Given the description of an element on the screen output the (x, y) to click on. 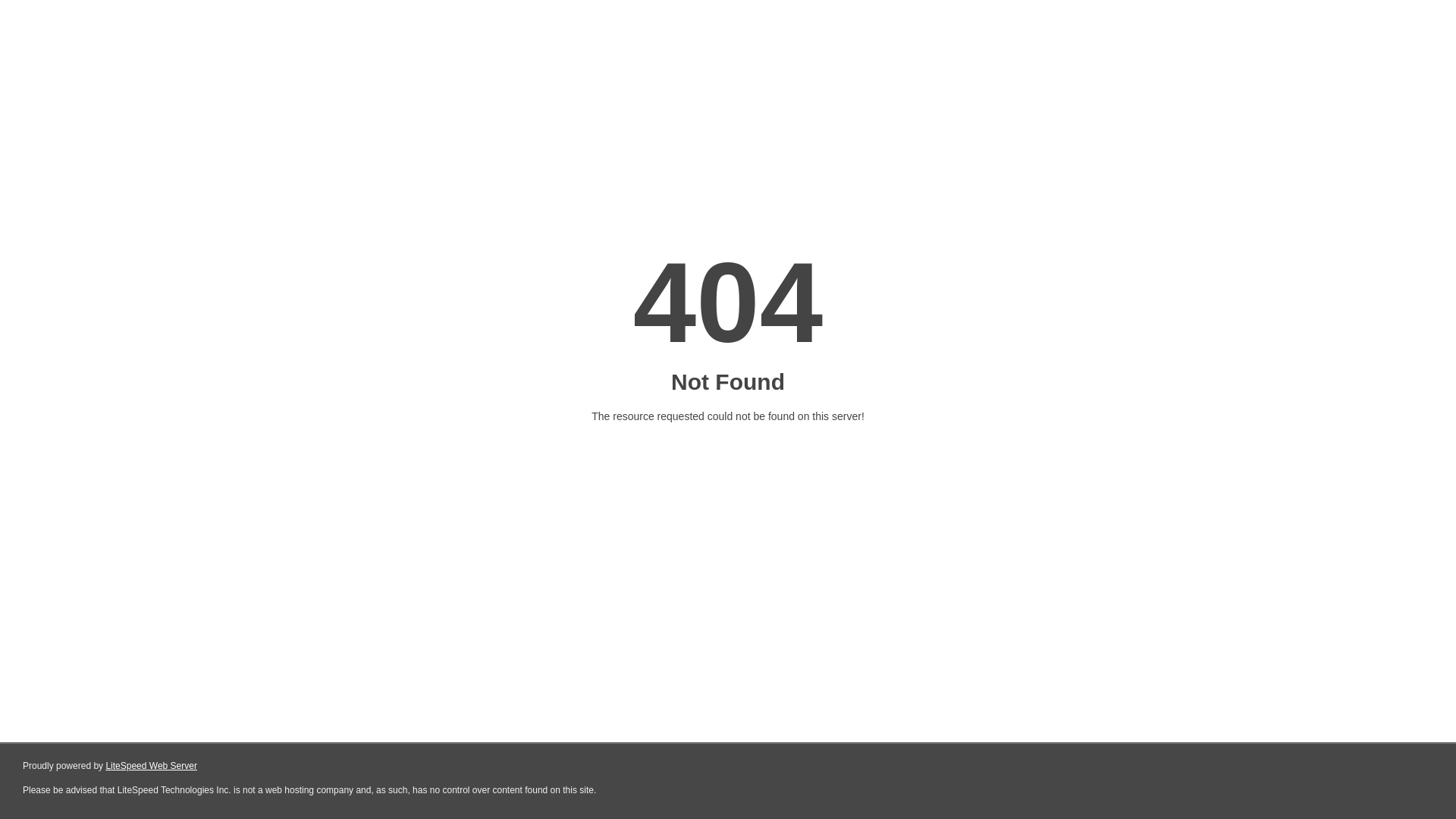
LiteSpeed Web Server (150, 765)
